Given the description of an element on the screen output the (x, y) to click on. 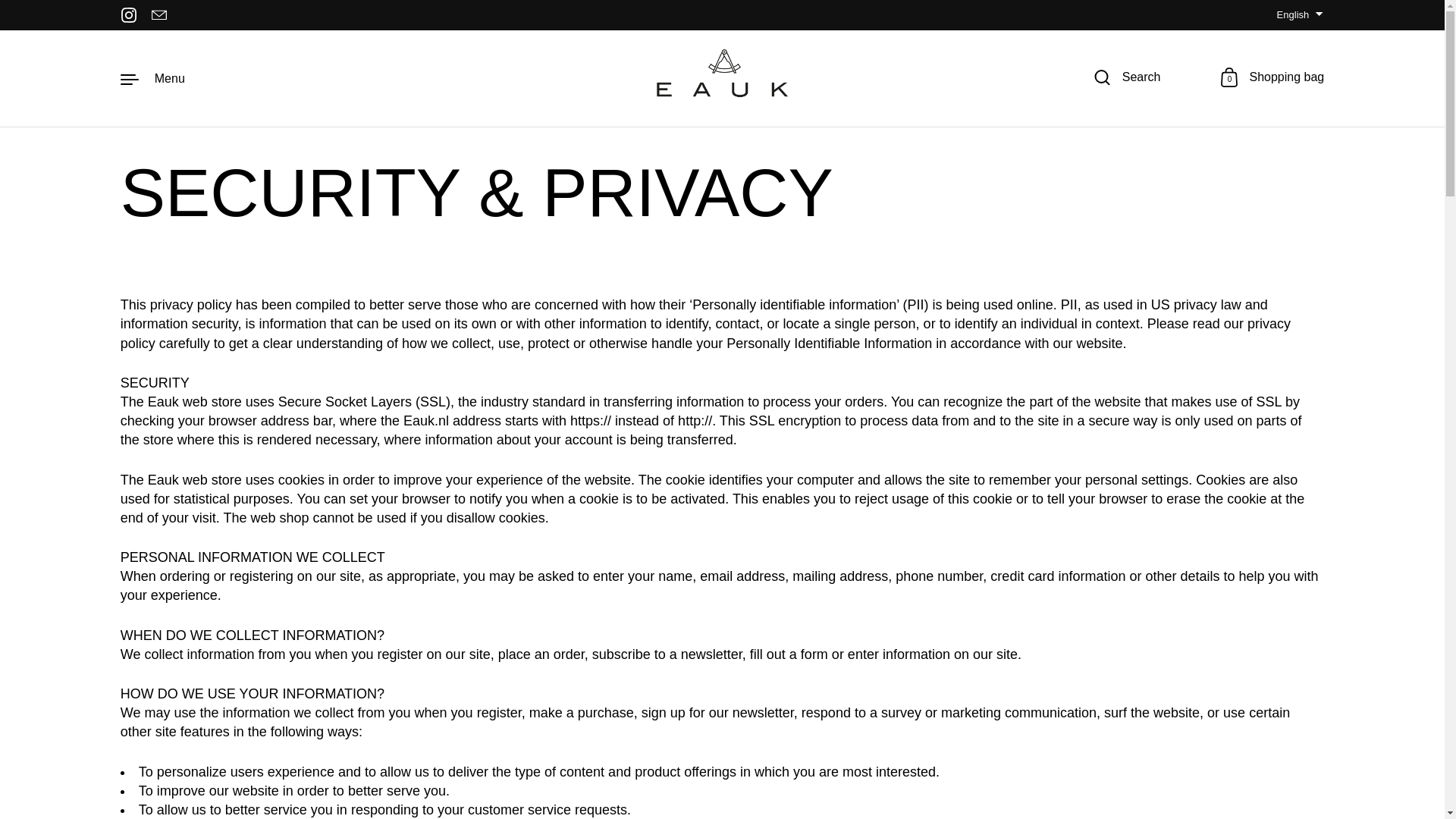
Menu (152, 77)
Email (159, 15)
Instagram (128, 15)
Search (1127, 78)
English (1296, 14)
Eauk Parfum (1272, 78)
